Given the description of an element on the screen output the (x, y) to click on. 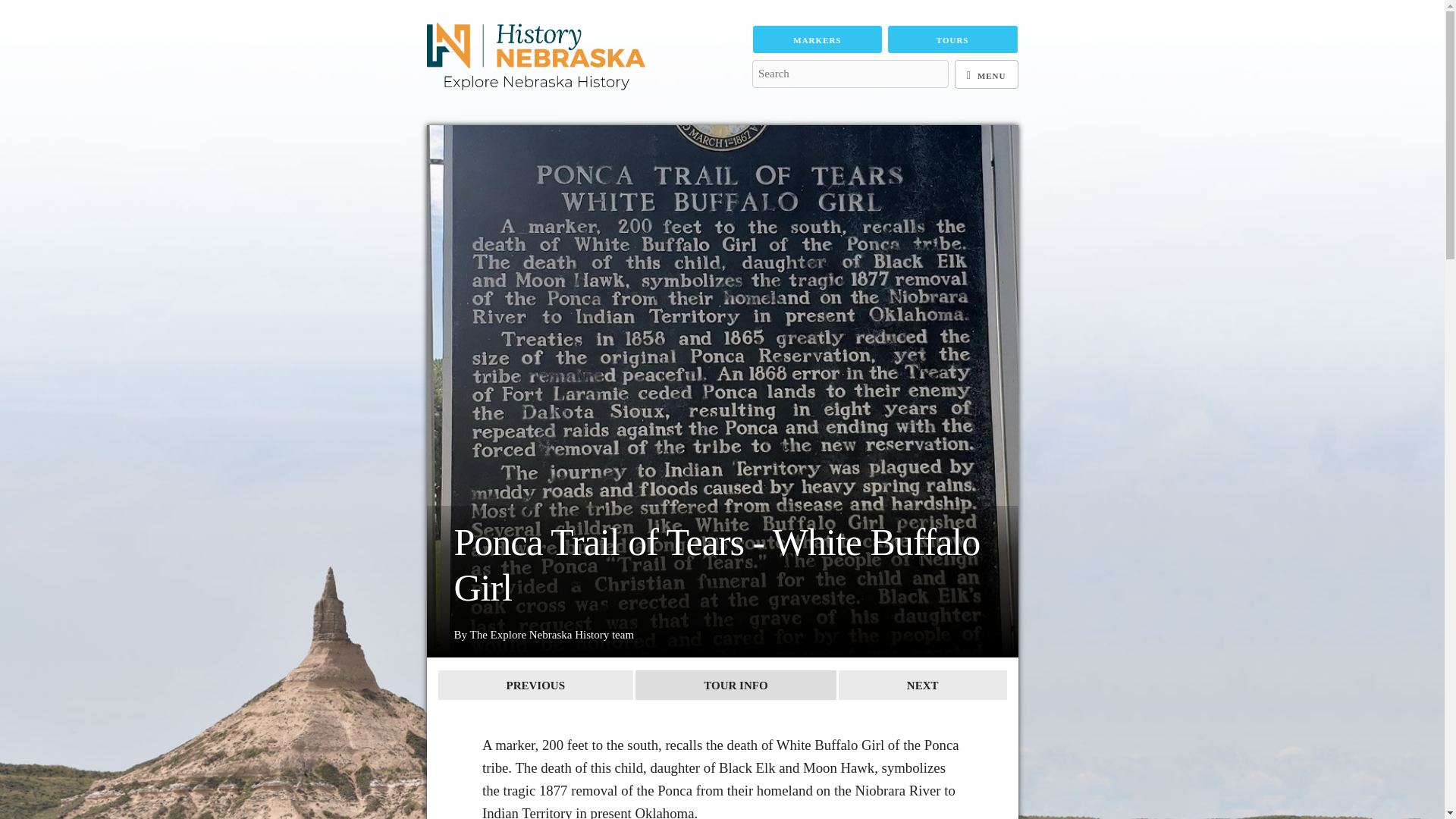
TOURS (951, 39)
Submit (774, 101)
View Tour: Native Americans in Nebraska (734, 685)
Menu (986, 74)
PREVIOUS (535, 685)
NEXT (922, 685)
Previous stop on Tour (535, 685)
Next stop on Tour (922, 685)
Submit (774, 101)
TOUR INFO (734, 685)
MARKERS (817, 39)
